Given the description of an element on the screen output the (x, y) to click on. 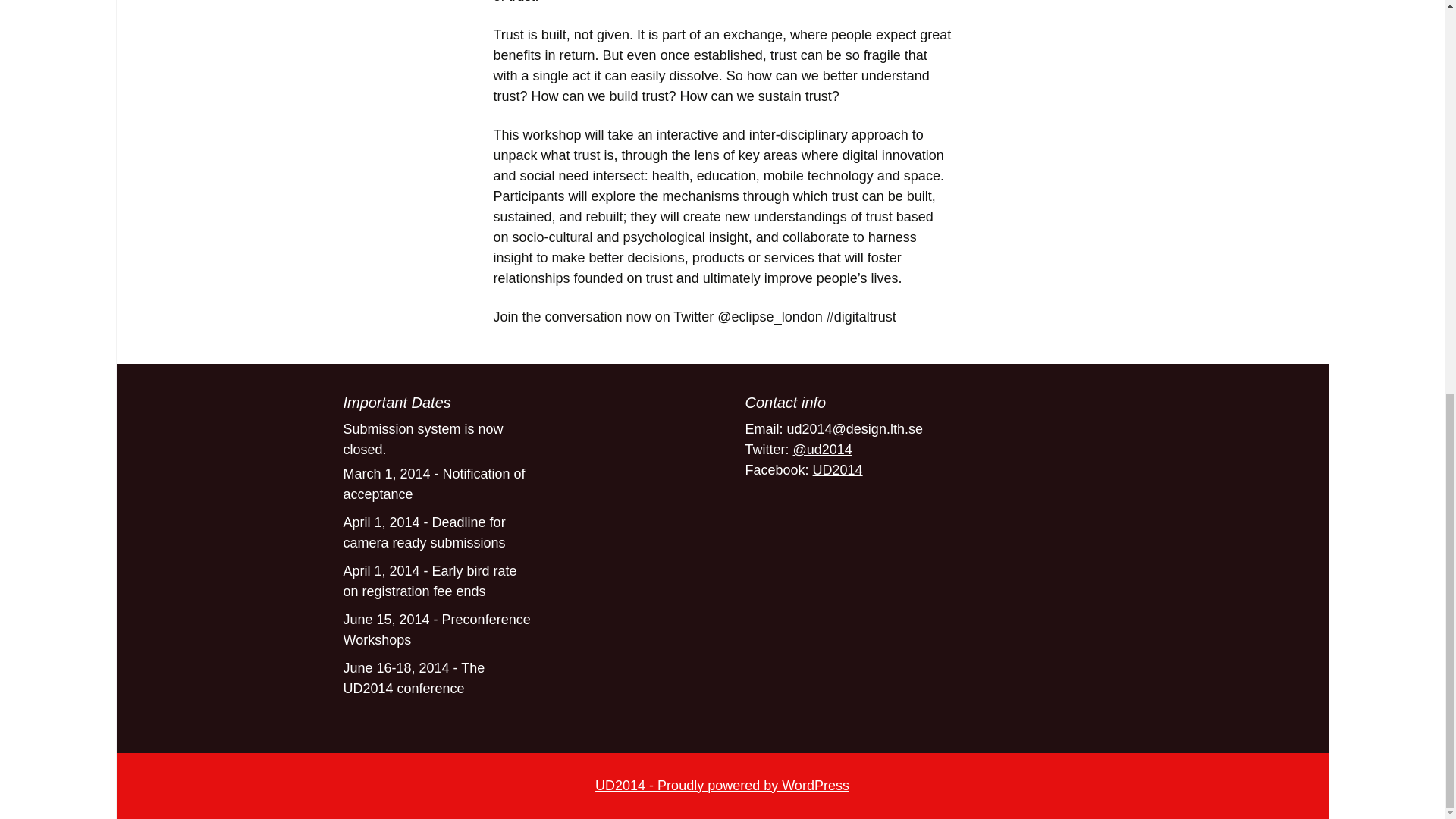
Link to UD2014 on Facebook (837, 469)
UD2014 (837, 469)
Send mail to UD2014 (855, 428)
Link to Wordpress (721, 785)
Link to UD2014 on Twitter (822, 449)
